Given the description of an element on the screen output the (x, y) to click on. 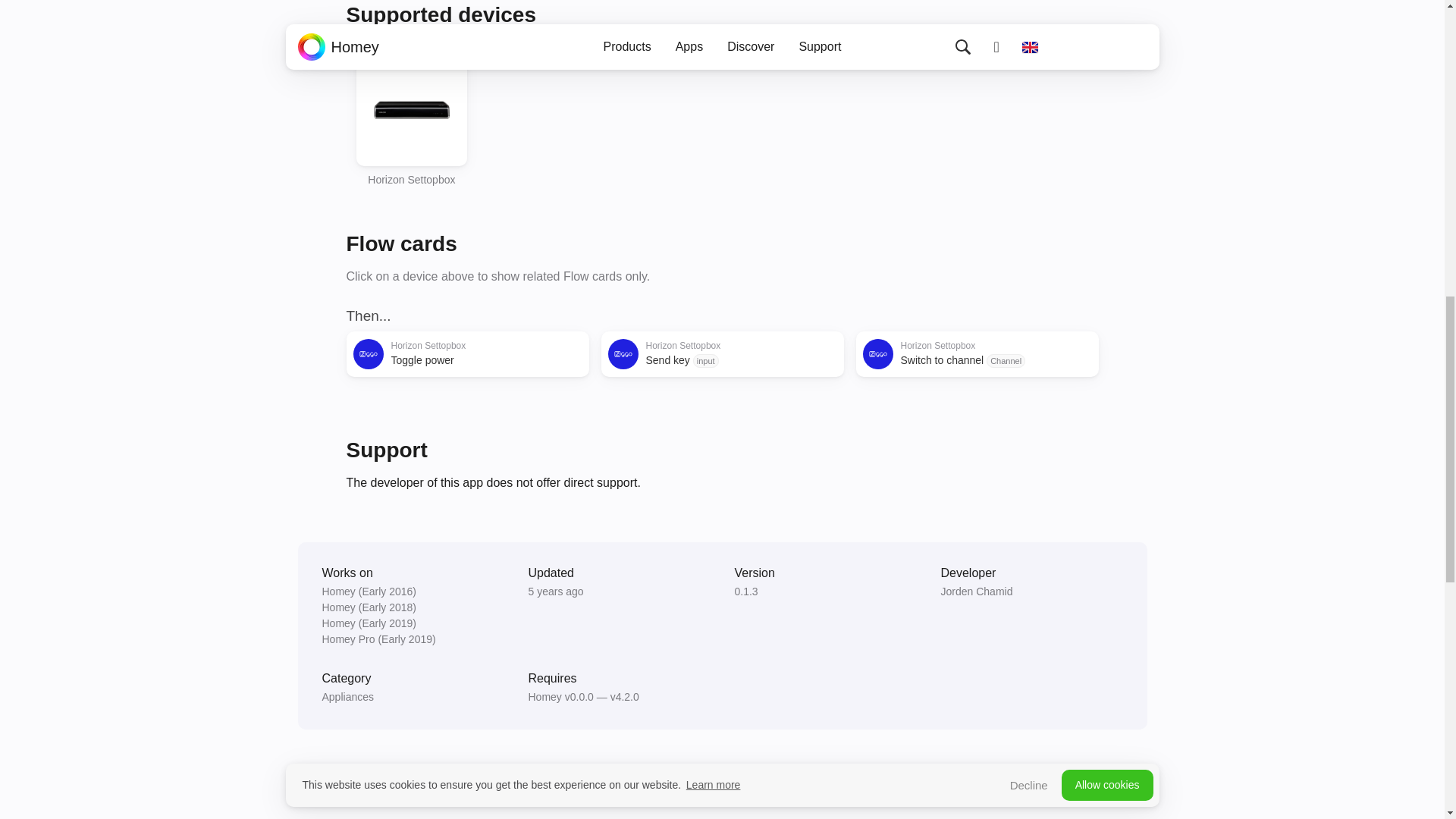
input (706, 360)
channel (1006, 360)
